Given the description of an element on the screen output the (x, y) to click on. 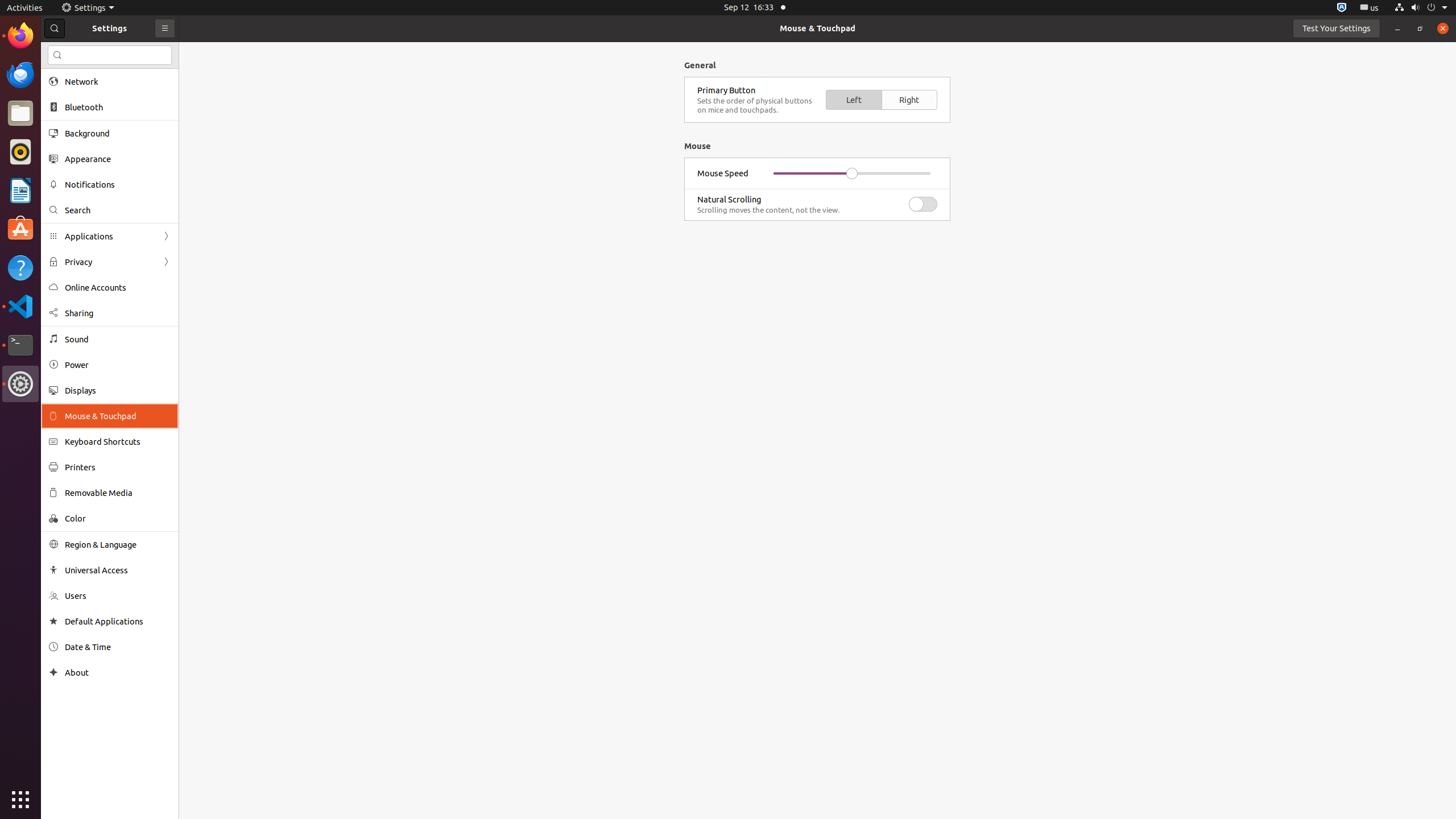
Default Applications Element type: label (117, 621)
Mouse Element type: label (697, 145)
Bluetooth Element type: label (117, 107)
